Given the description of an element on the screen output the (x, y) to click on. 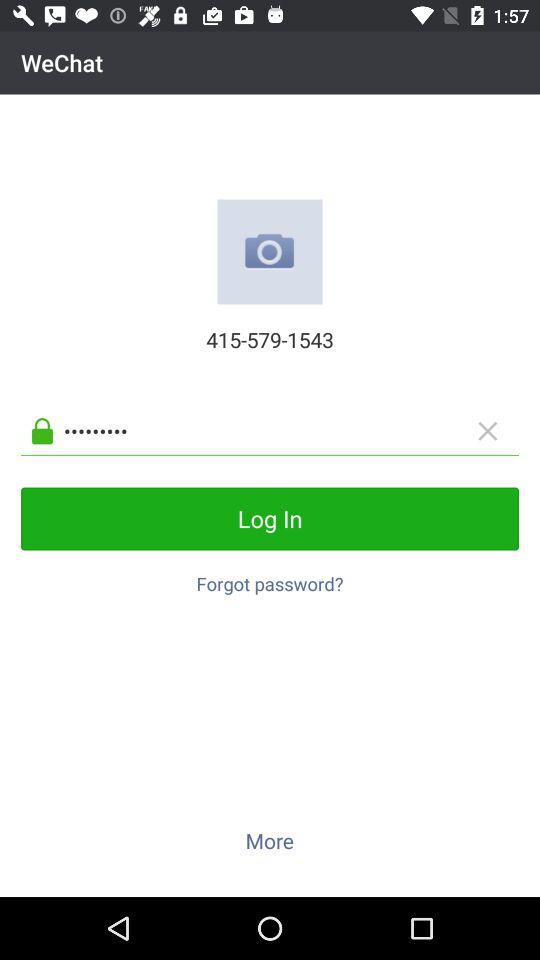
press button above the more icon (269, 578)
